Given the description of an element on the screen output the (x, y) to click on. 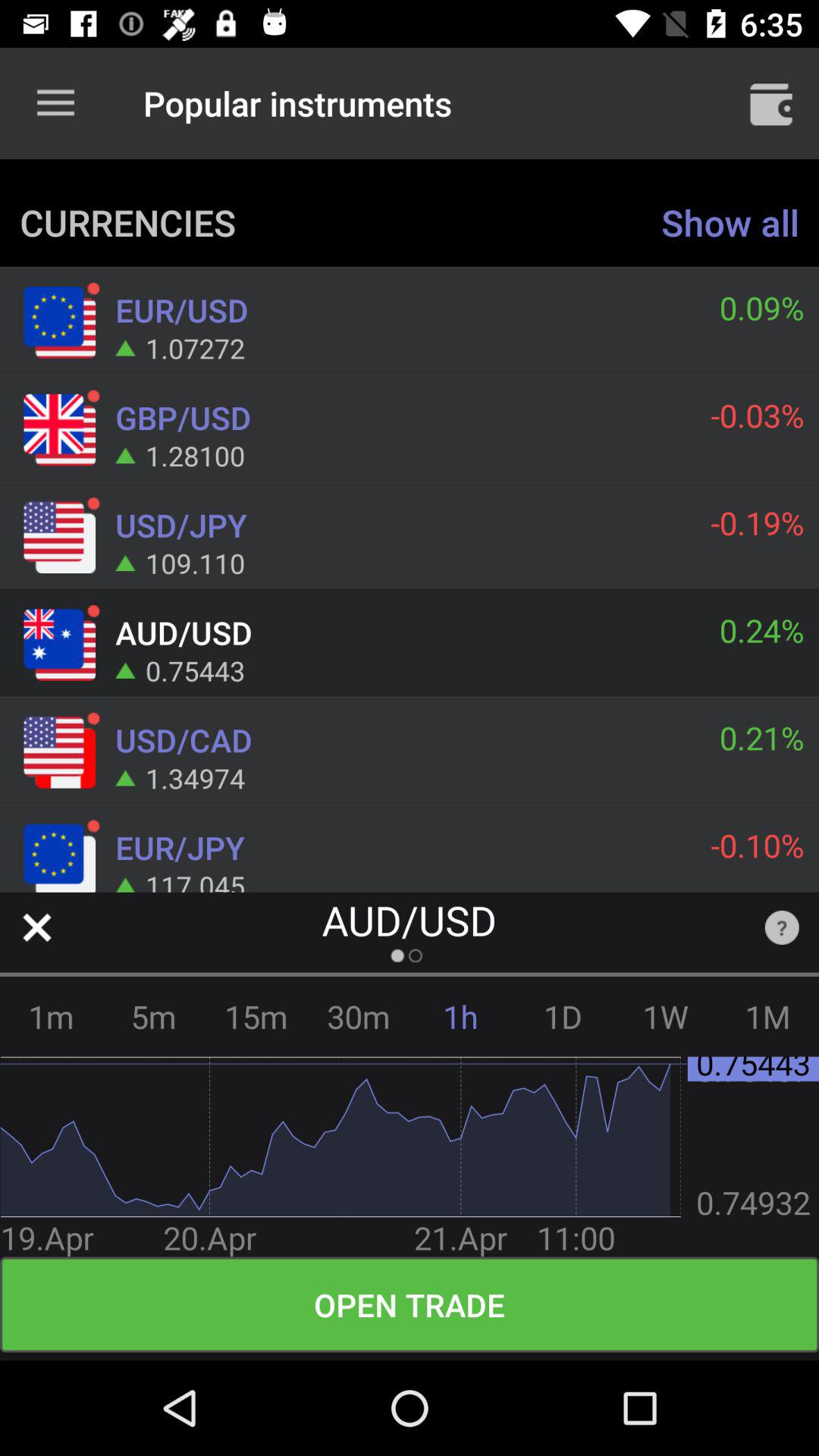
press 1h icon (460, 1016)
